Given the description of an element on the screen output the (x, y) to click on. 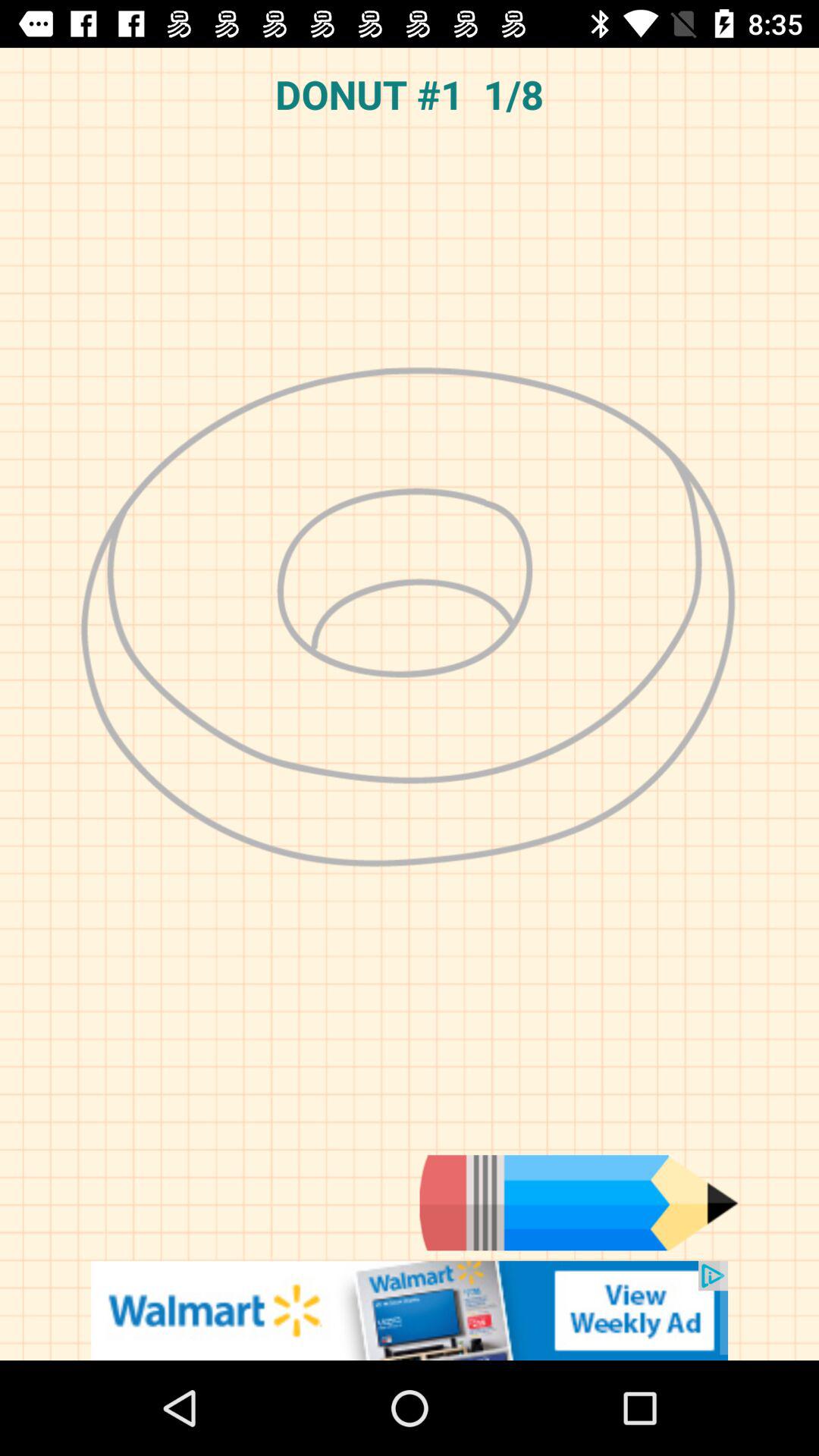
click the advertisement (409, 1310)
